Given the description of an element on the screen output the (x, y) to click on. 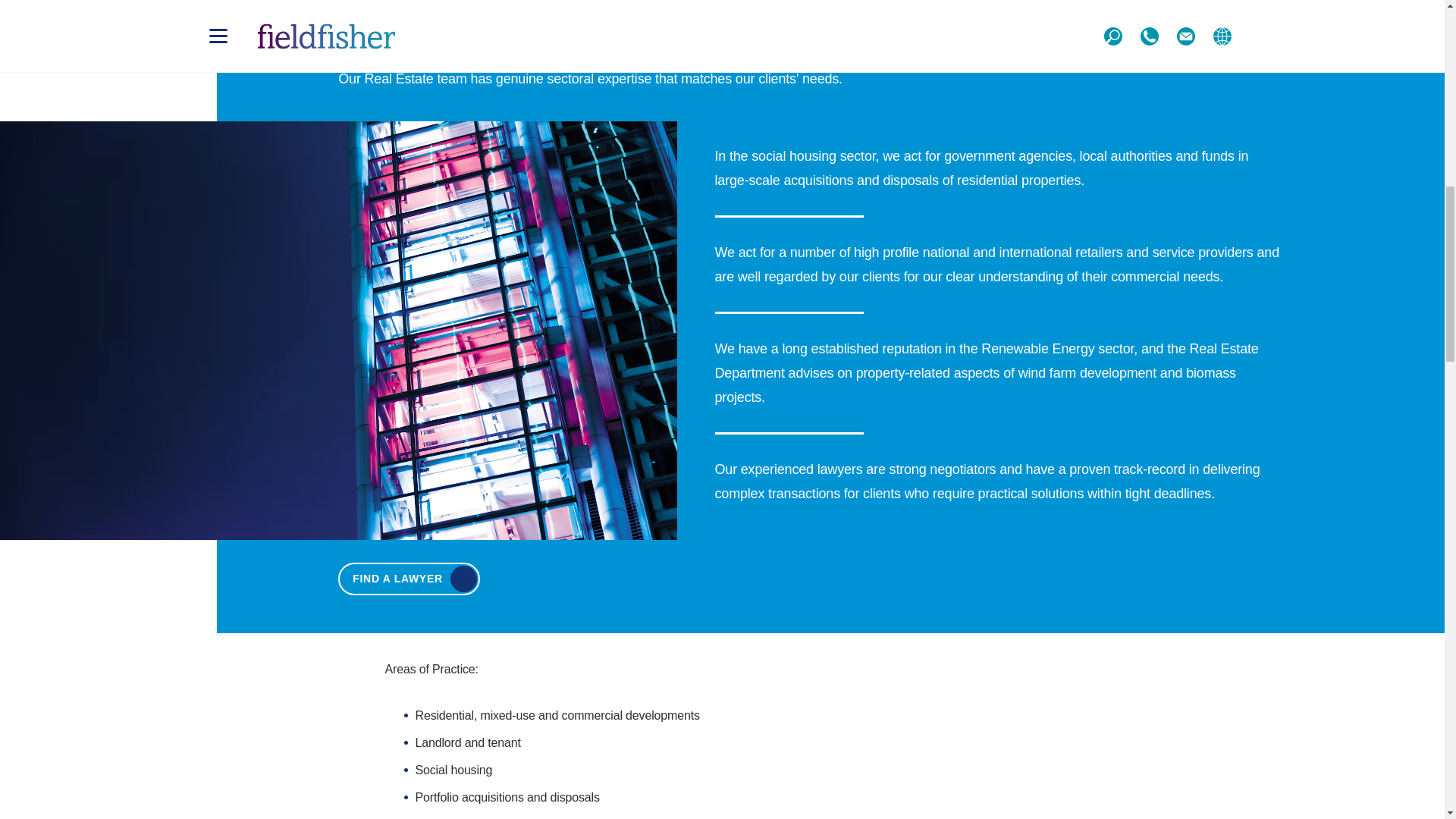
FIND A LAWYER (408, 578)
